Given the description of an element on the screen output the (x, y) to click on. 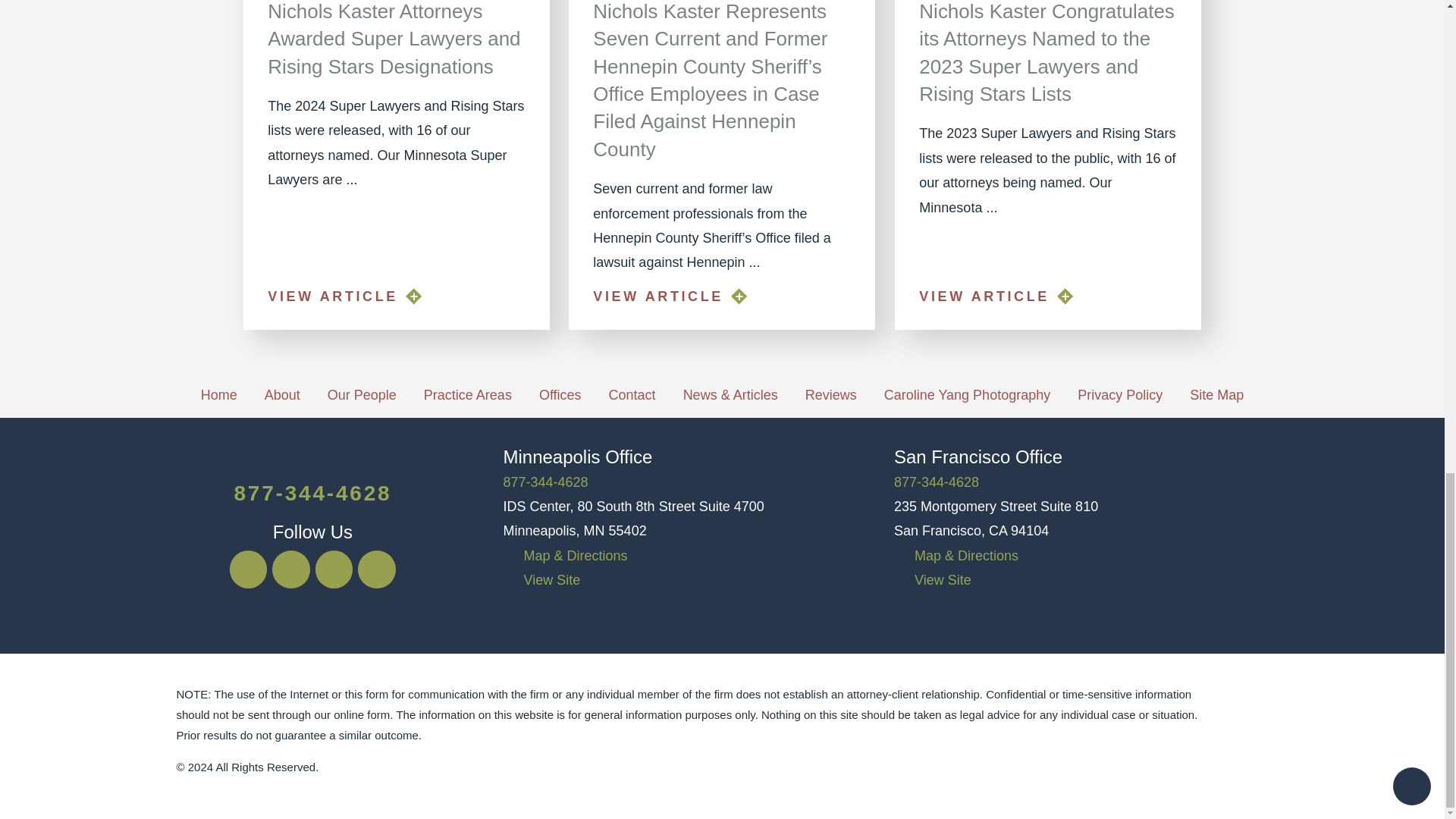
Google Business Profile (334, 569)
Facebook (248, 569)
Twitter (291, 569)
